Given the description of an element on the screen output the (x, y) to click on. 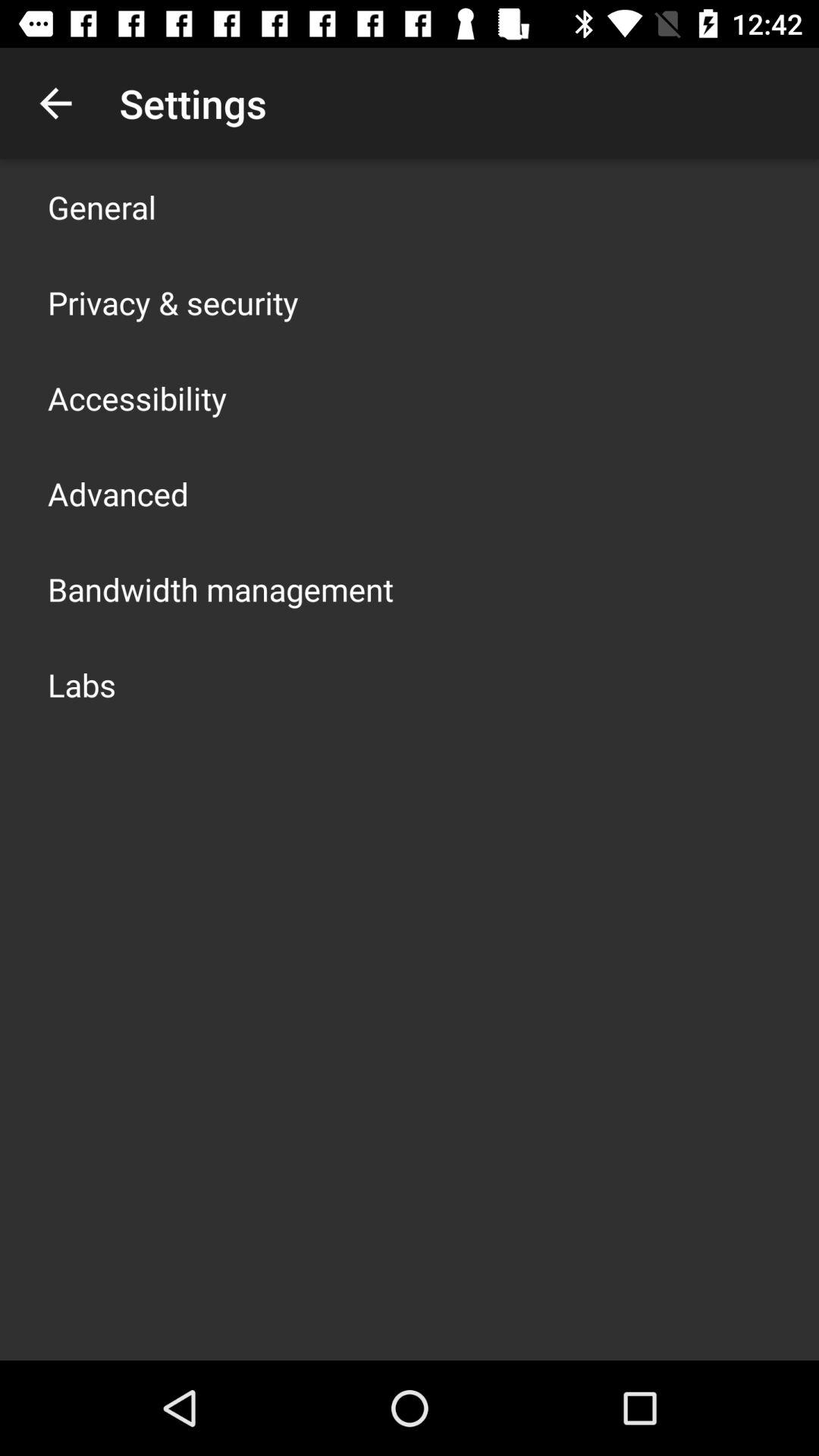
turn on the item below the accessibility icon (117, 493)
